Given the description of an element on the screen output the (x, y) to click on. 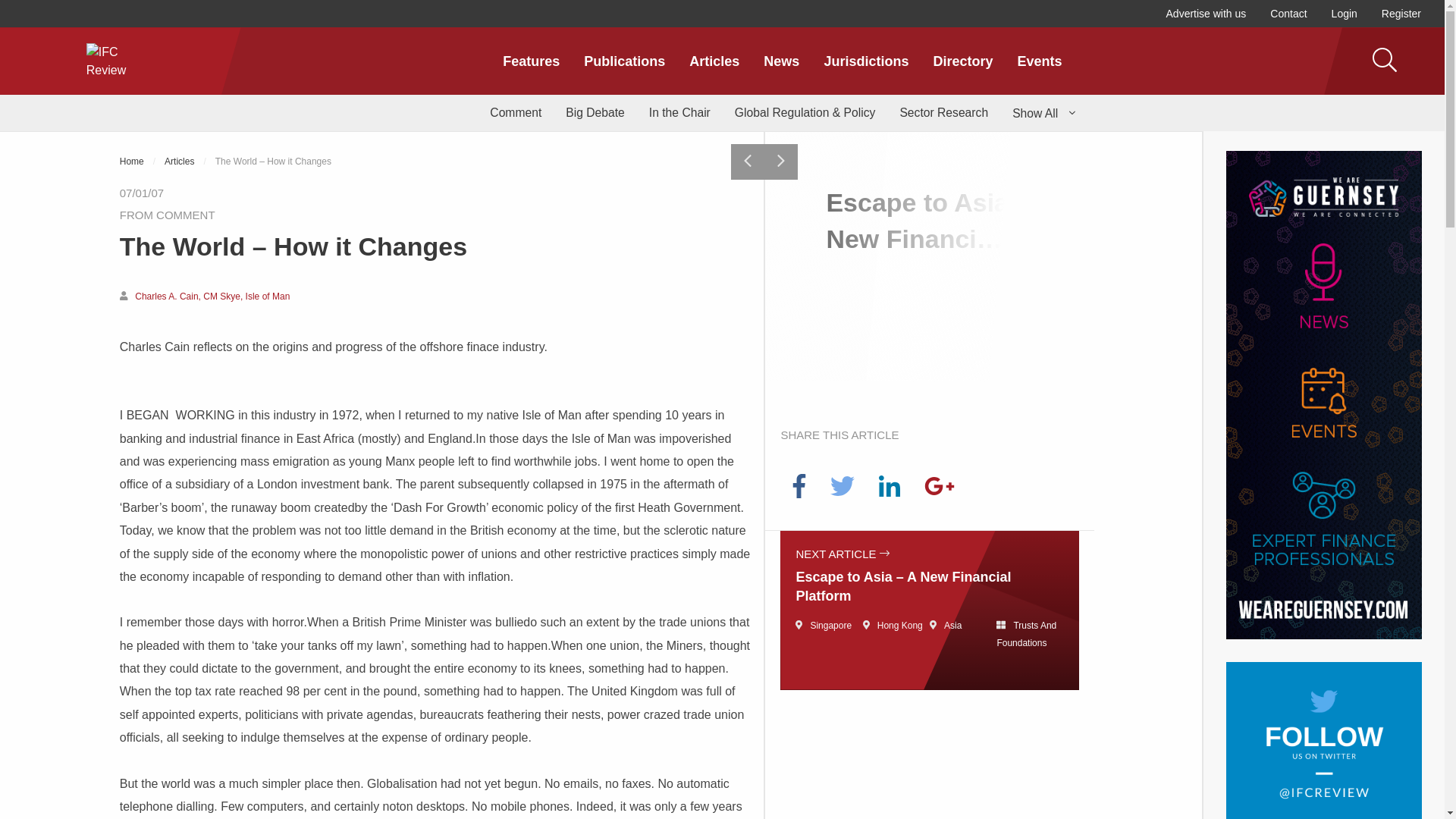
Directory (962, 60)
Articles (714, 60)
Login (1344, 13)
Features (531, 60)
Advertise with us (1206, 13)
Publications (624, 60)
Register (1401, 13)
Comment (515, 113)
In the Chair (679, 113)
News (780, 60)
Show All (1043, 113)
Events (1039, 60)
Sector Research (943, 113)
Big Debate (595, 113)
Jurisdictions (865, 60)
